Given the description of an element on the screen output the (x, y) to click on. 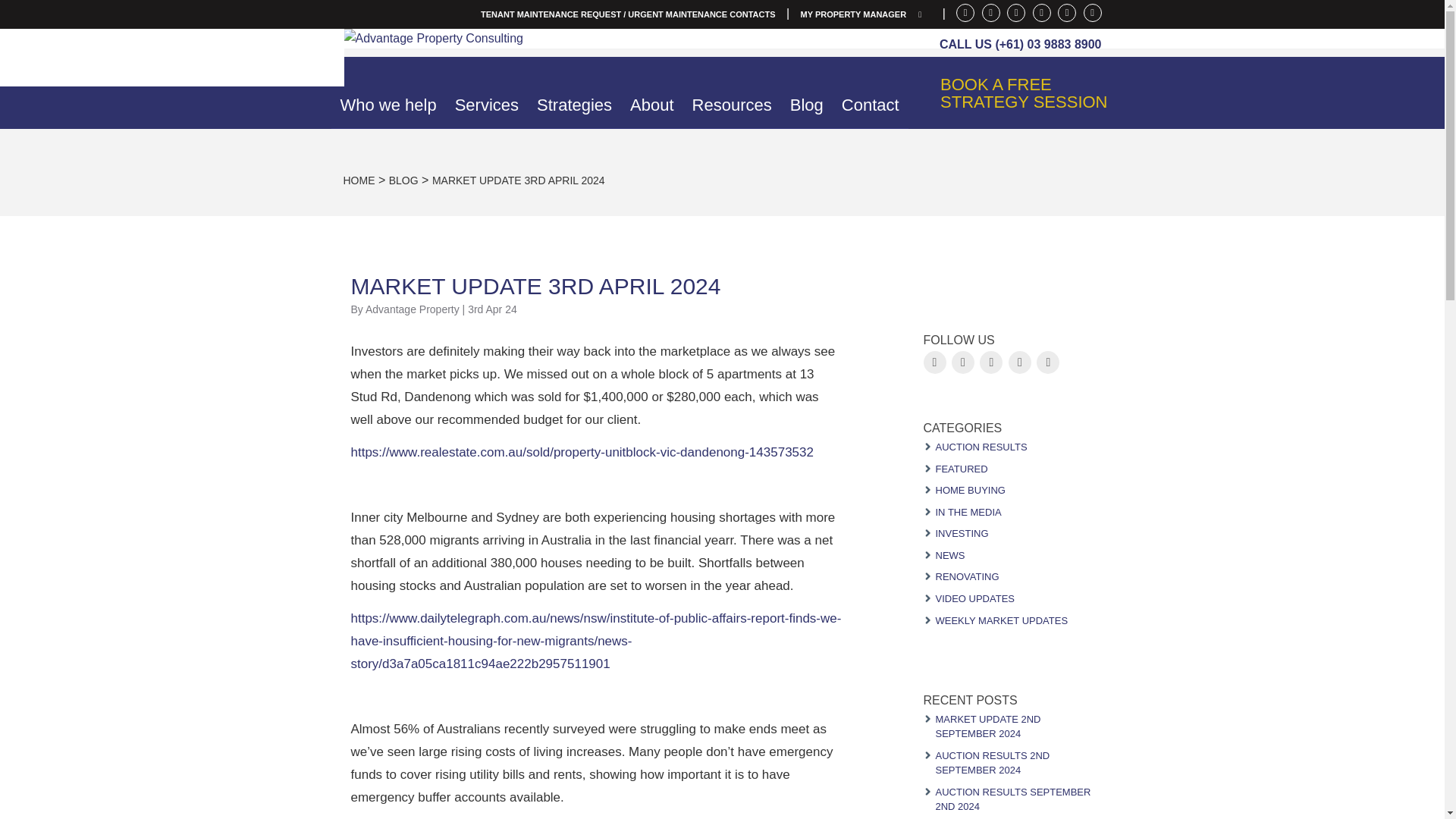
About (651, 103)
Strategies (574, 103)
Services (486, 103)
MY PROPERTY MANAGER (865, 13)
Resources (731, 103)
Who we help (387, 103)
